Given the description of an element on the screen output the (x, y) to click on. 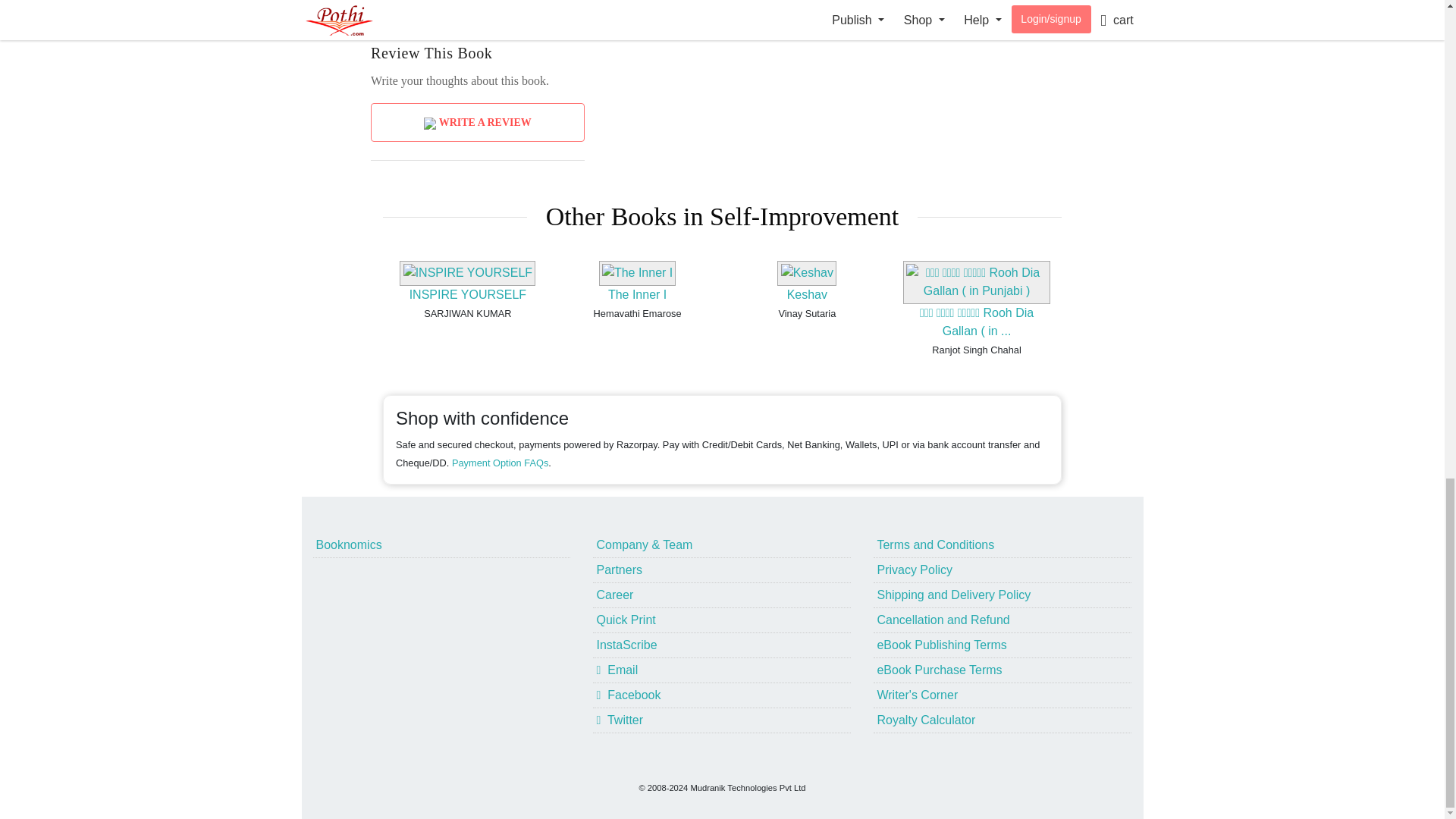
The Inner I (637, 294)
WRITE A REVIEW (478, 122)
Keshav (807, 294)
INSPIRE YOURSELF (467, 294)
write a review (764, 7)
One Life Many Journeys (924, 7)
